Given the description of an element on the screen output the (x, y) to click on. 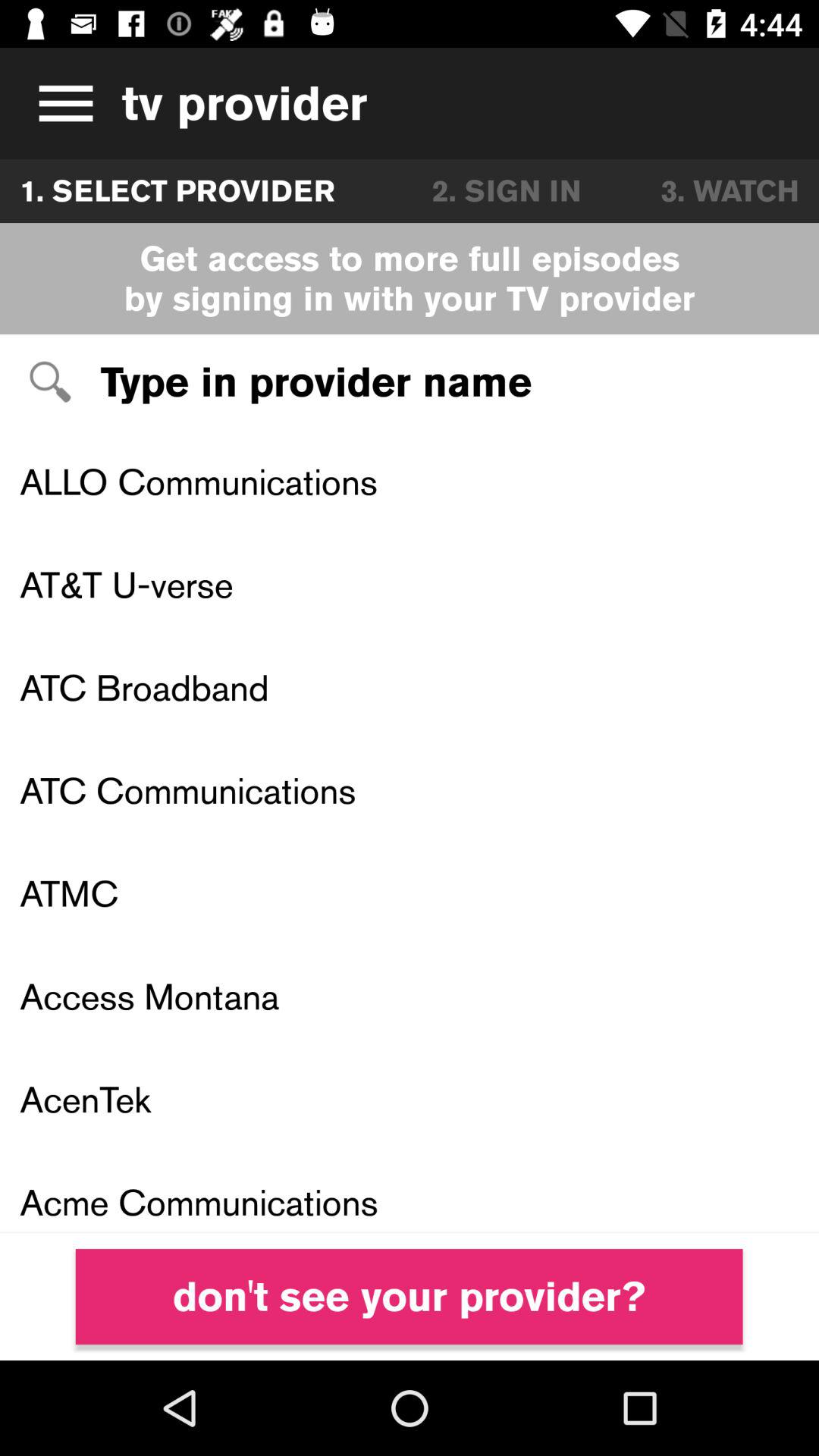
turn off atc broadband item (409, 687)
